Given the description of an element on the screen output the (x, y) to click on. 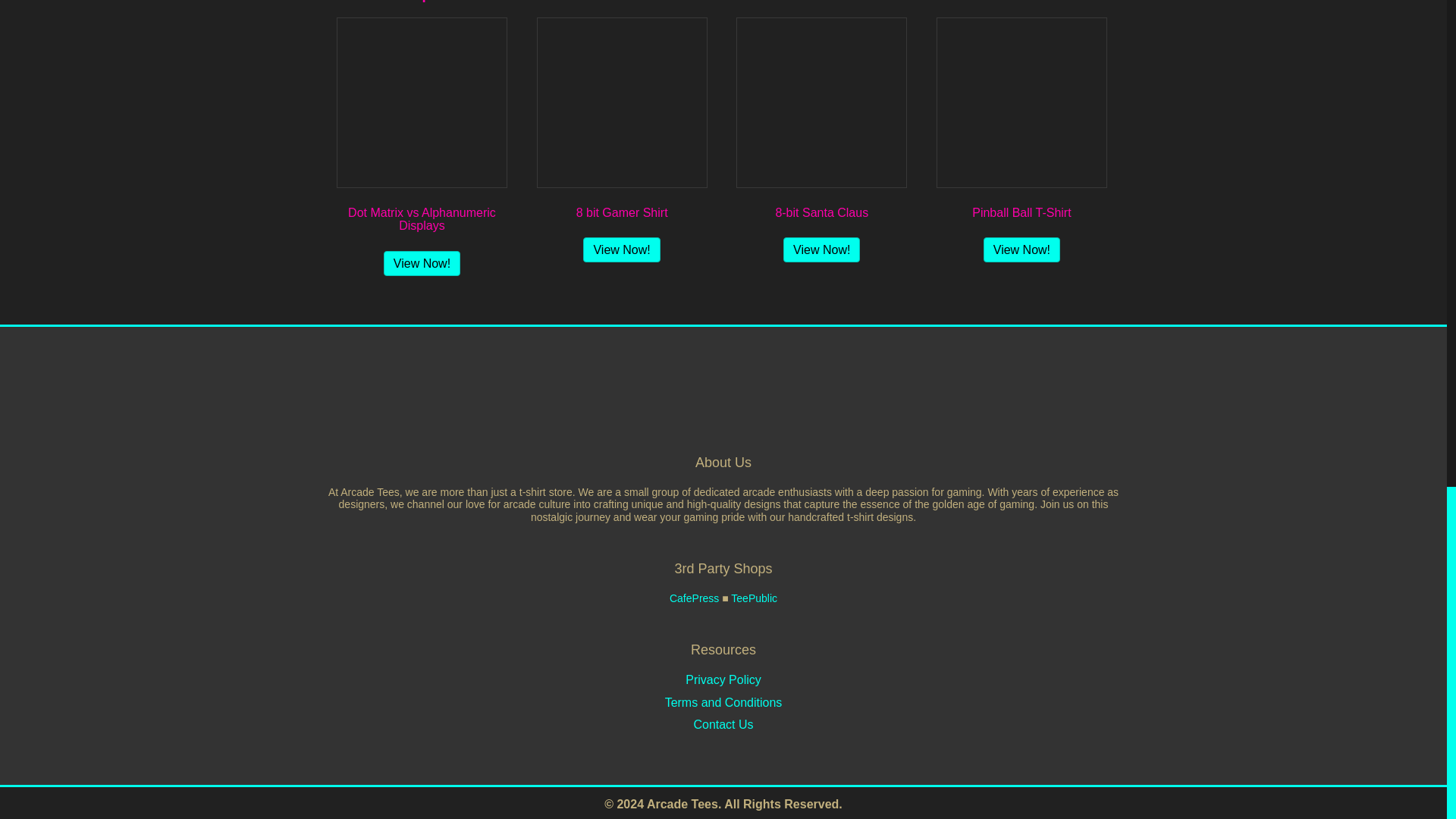
Privacy Policy (723, 679)
8-bit Santa Claus (821, 137)
Pinball Ball T-Shirt (1021, 137)
Terms and Conditions (724, 702)
View Now! (1021, 249)
View Now! (821, 249)
View Now! (422, 263)
Contact Us (722, 724)
8 bit Gamer Shirt (622, 137)
Dot Matrix vs Alphanumeric Displays (421, 143)
TeePublic (753, 598)
View Now! (621, 249)
Pinball Arcade Tees Logo (723, 398)
CafePress (694, 598)
